Given the description of an element on the screen output the (x, y) to click on. 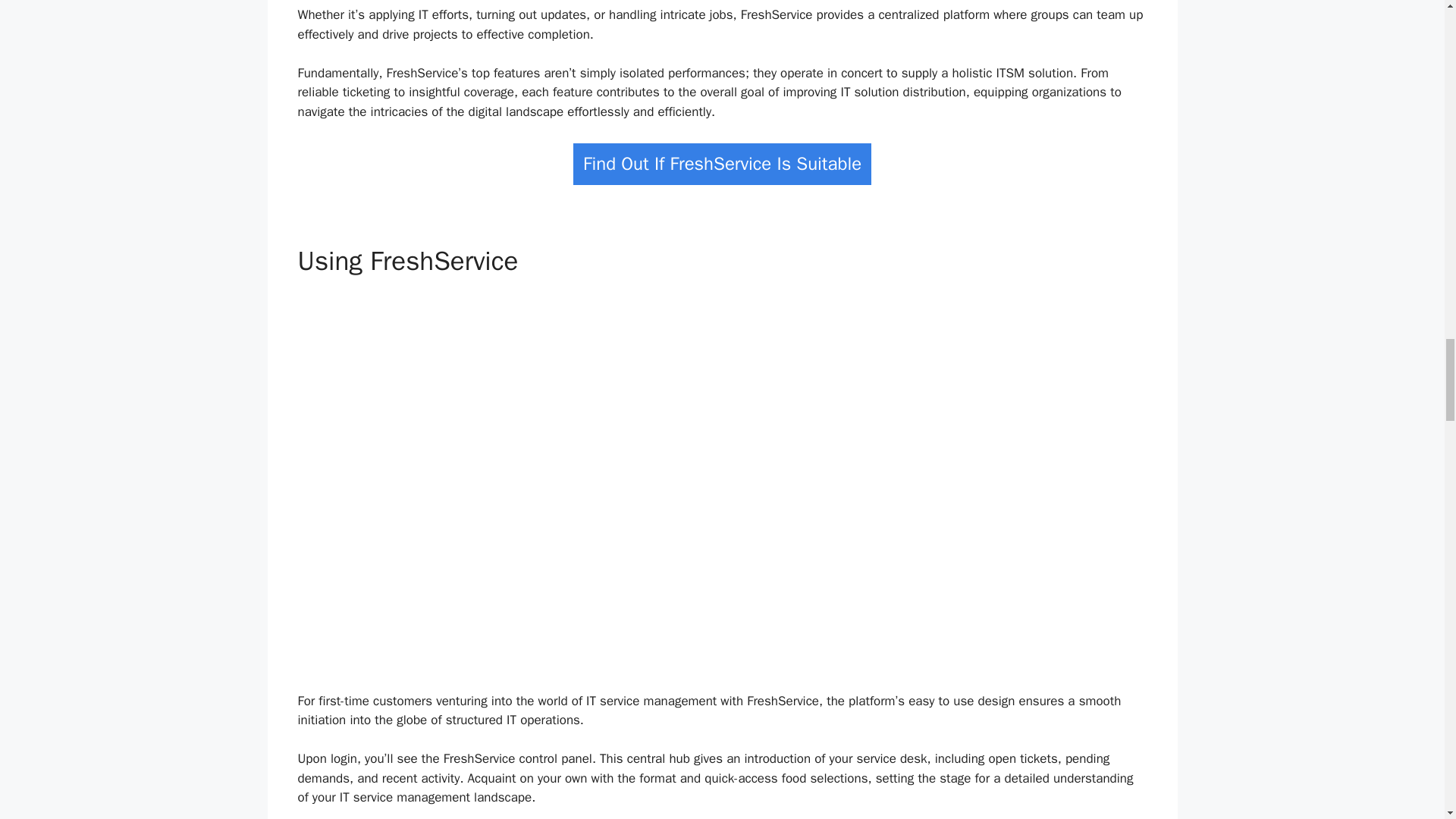
Find Out If FreshService Is Suitable (721, 164)
